Given the description of an element on the screen output the (x, y) to click on. 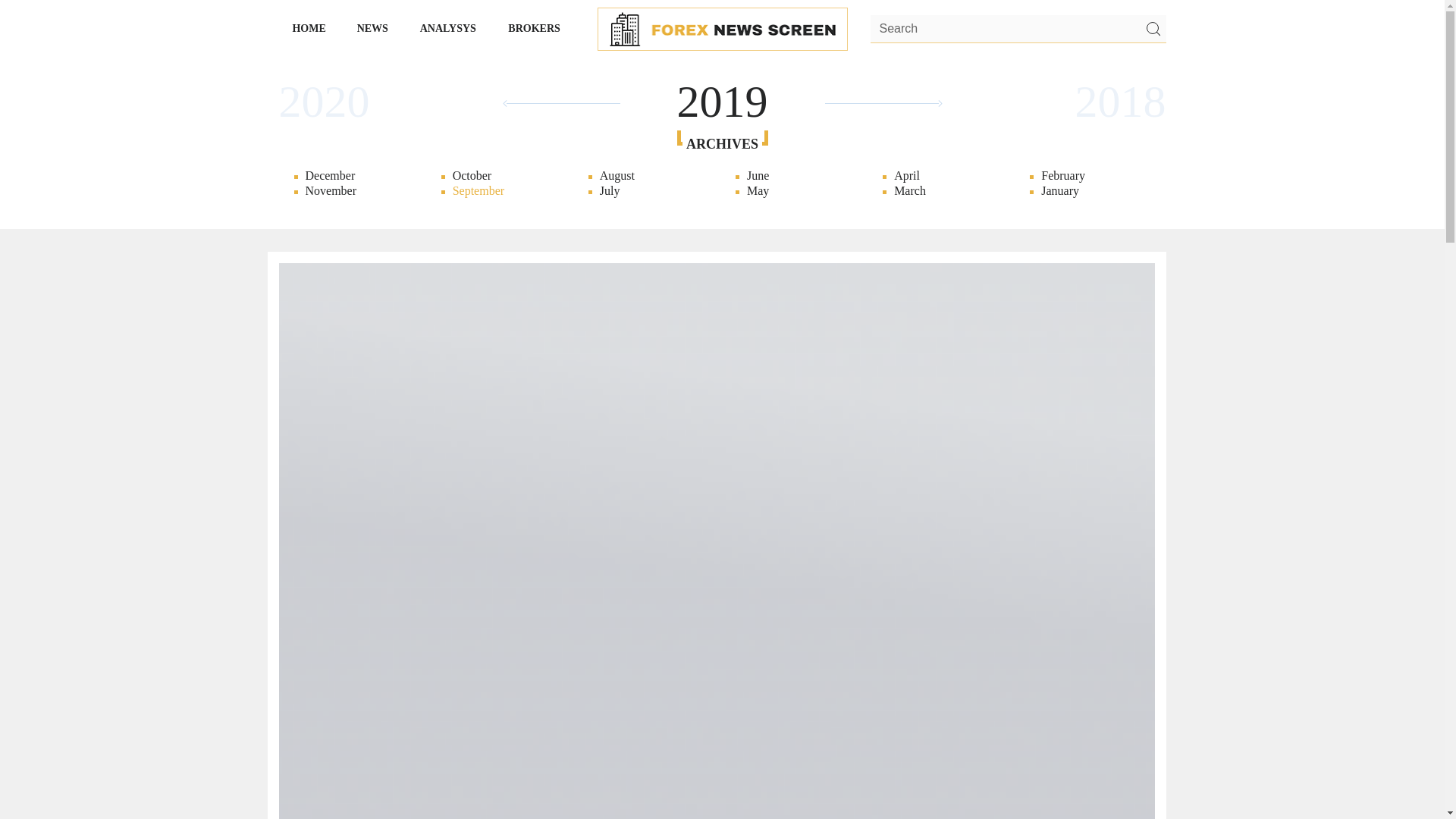
April (942, 175)
November (1240, 191)
NEWS (372, 28)
BROKERS (535, 28)
June (795, 175)
February (202, 175)
Search (1152, 28)
March (942, 191)
February (1089, 175)
December (354, 175)
